Given the description of an element on the screen output the (x, y) to click on. 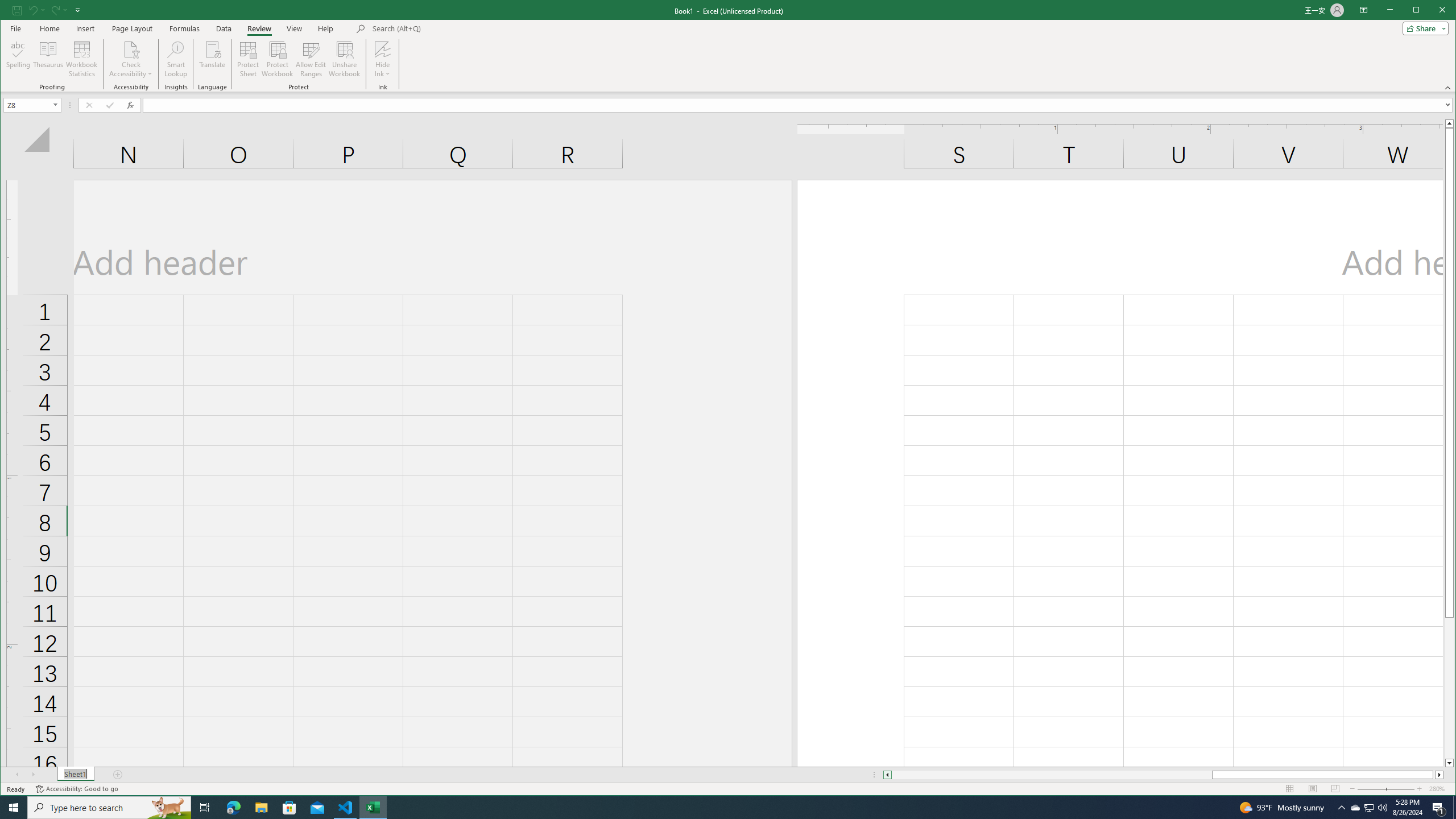
Translate (212, 59)
Task View (204, 807)
Thesaurus... (48, 59)
Spelling... (18, 59)
Maximize (1432, 11)
Q2790: 100% (1382, 807)
